Given the description of an element on the screen output the (x, y) to click on. 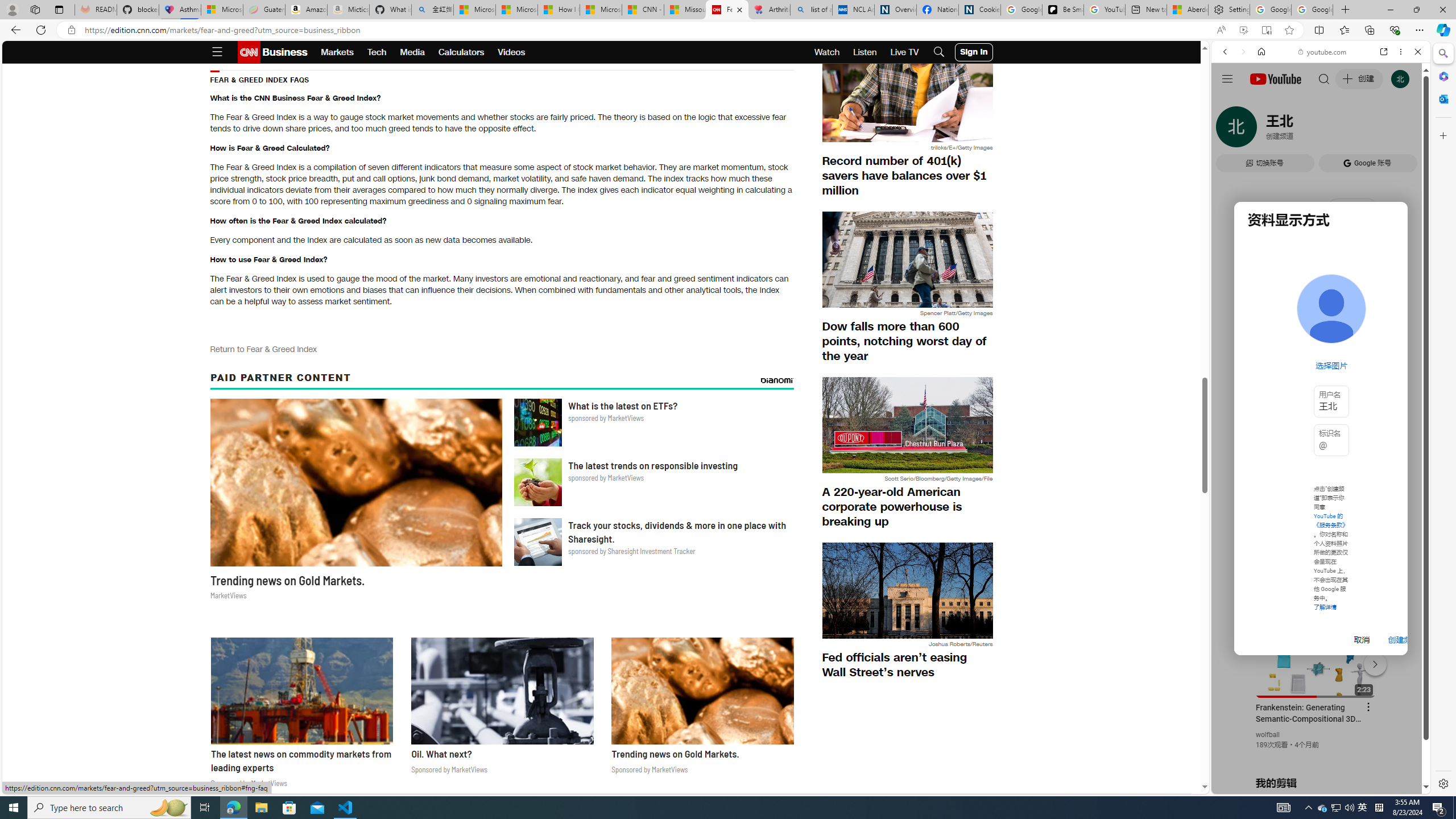
Home (1261, 51)
MarketViews Trending news on Gold Markets. MarketViews (358, 500)
#you (1320, 253)
SEARCH TOOLS (1350, 130)
Sharesight Investment Tracker (537, 541)
YouTube - YouTube (1315, 560)
Return to Fear & Greed Index (263, 348)
